Given the description of an element on the screen output the (x, y) to click on. 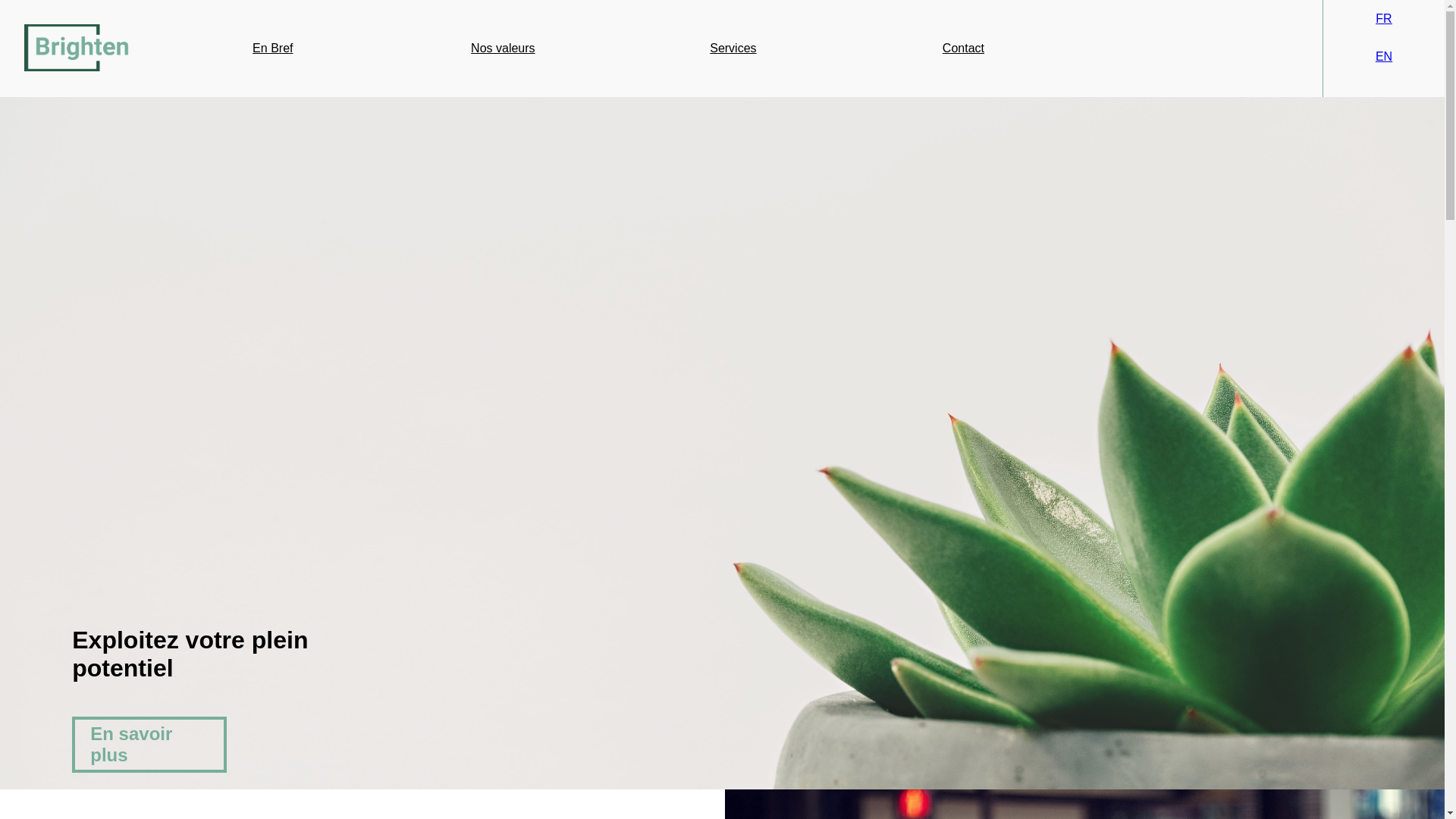
En Bref Element type: text (272, 47)
EN Element type: text (1383, 56)
FR Element type: text (1383, 18)
Nos valeurs Element type: text (502, 47)
Services Element type: text (732, 47)
Contact Element type: text (963, 47)
